Given the description of an element on the screen output the (x, y) to click on. 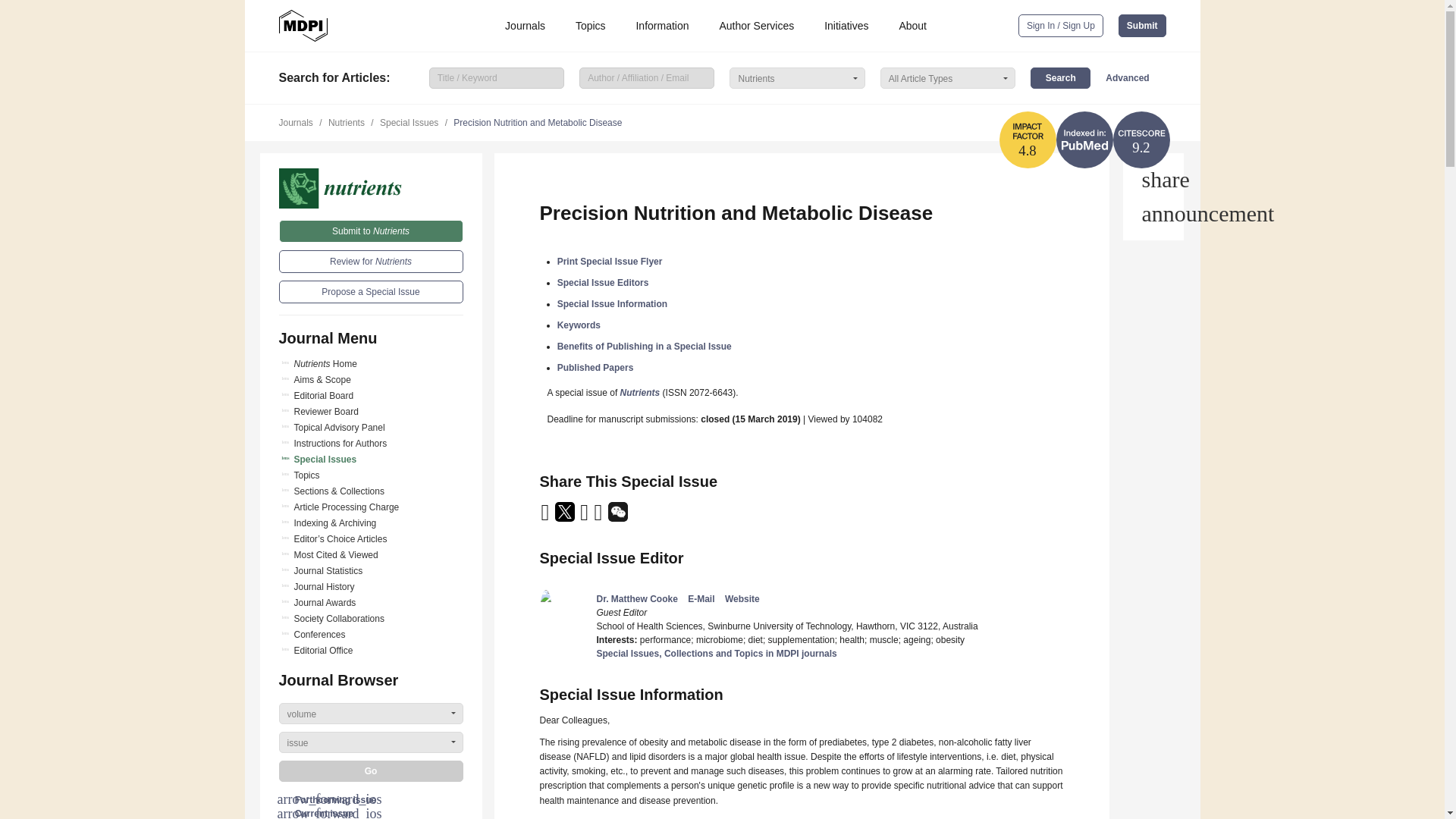
Twitter (565, 516)
Go (371, 771)
LinkedIn (585, 516)
facebook (599, 516)
Share (1152, 179)
Nutrients (371, 188)
Search (1060, 77)
MDPI Open Access Journals (303, 25)
Search (1060, 77)
Email (546, 516)
